Given the description of an element on the screen output the (x, y) to click on. 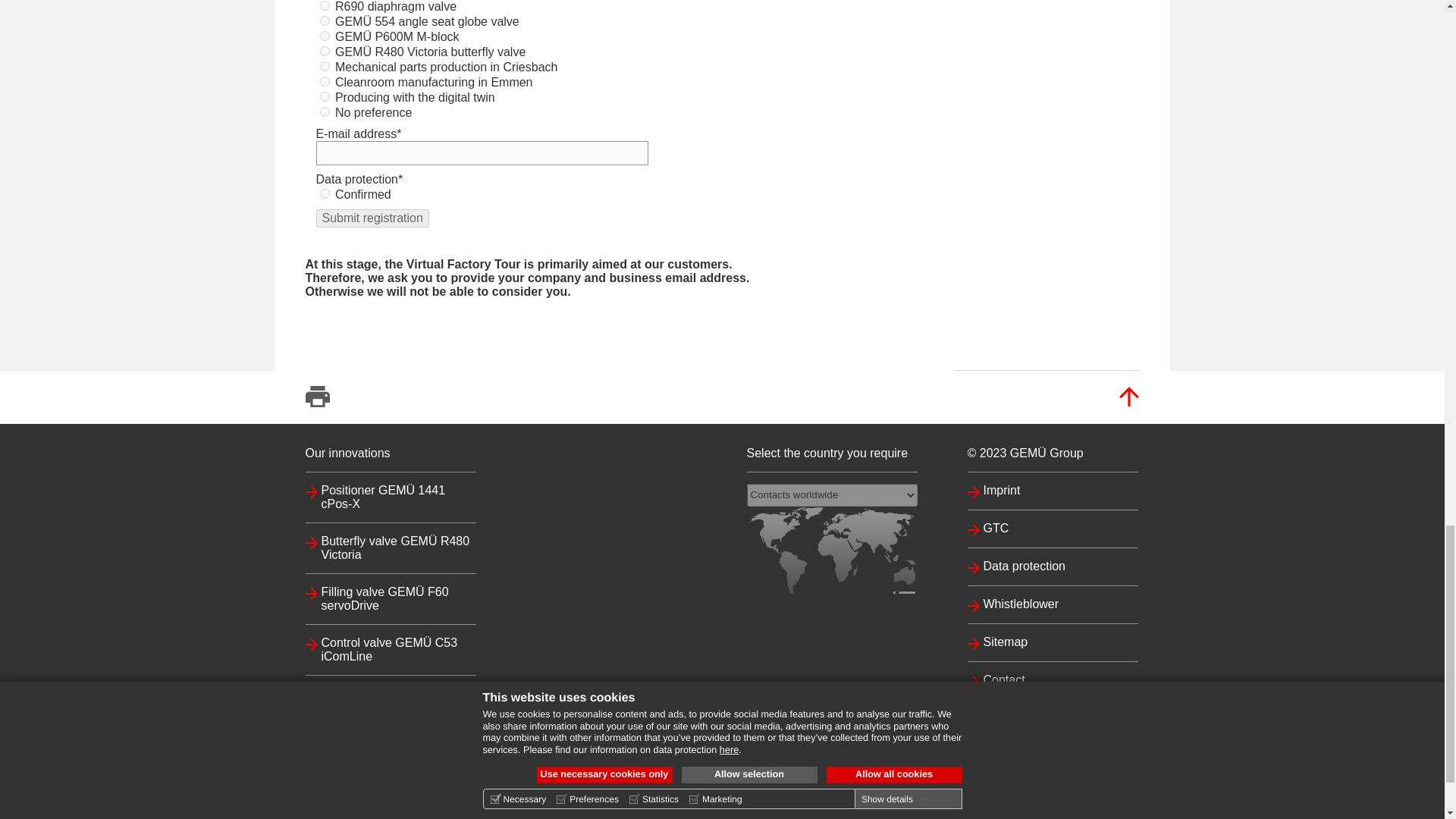
Submit registration (371, 218)
Producing with the digital twin (325, 96)
Cleanroom manufacturing in Emmen (325, 81)
R690 diaphragm valve (325, 5)
No preference (325, 112)
Confirmed (325, 194)
Mechanical parts production in Criesbach (325, 66)
